Given the description of an element on the screen output the (x, y) to click on. 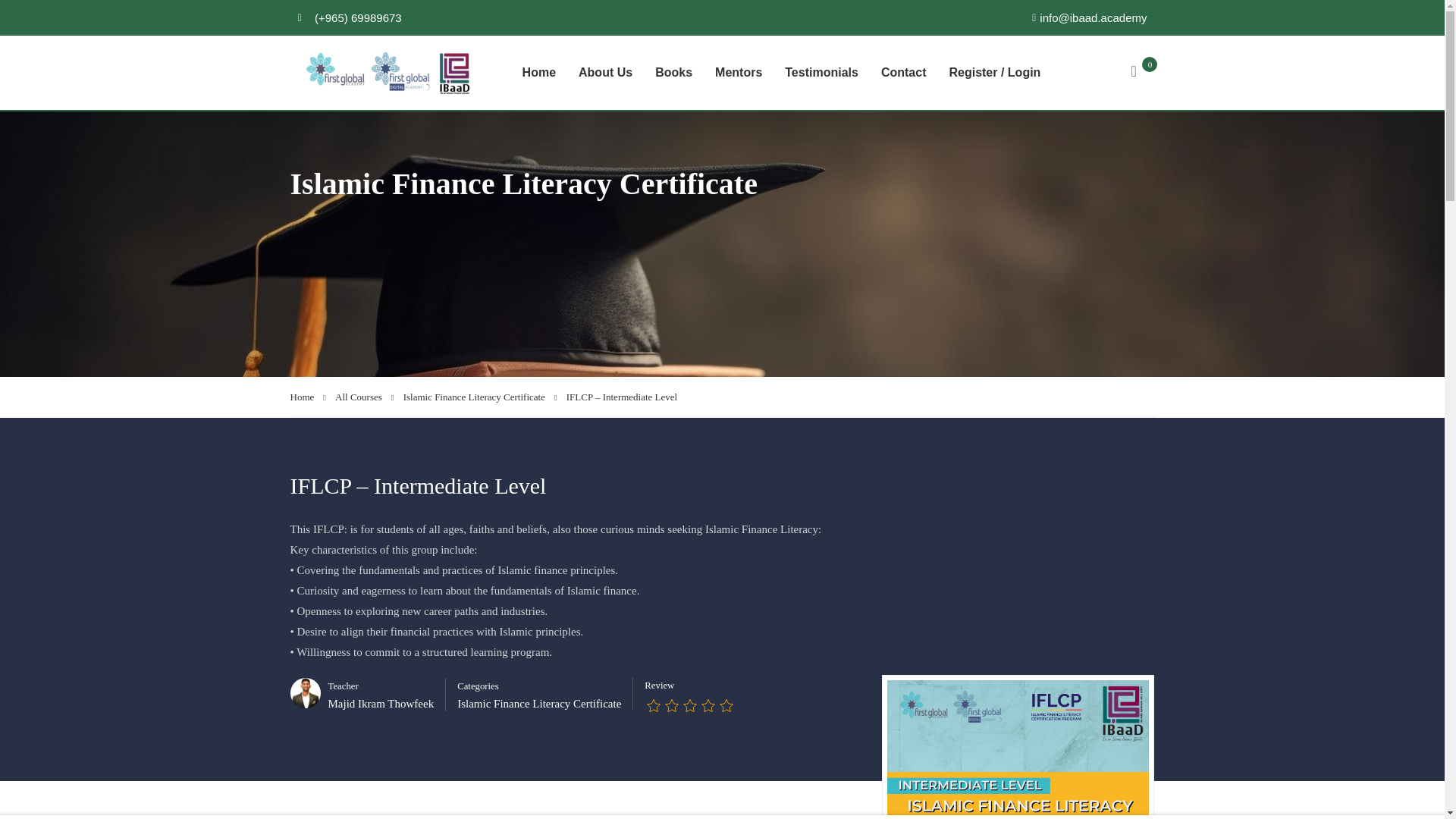
WhatsApp Image 2023-08-17 at 09.127.02 (1018, 749)
Testimonials (821, 72)
Islamic Finance Literacy Certificate (539, 703)
0 out of 5 stars (690, 706)
Majid Ikram Thowfeek (380, 703)
Contact (903, 72)
Home (539, 72)
Islamic Finance Literacy Certificate (480, 397)
About Us (605, 72)
All Courses (364, 397)
Home (307, 397)
Books (673, 72)
Mentors (738, 72)
